Given the description of an element on the screen output the (x, y) to click on. 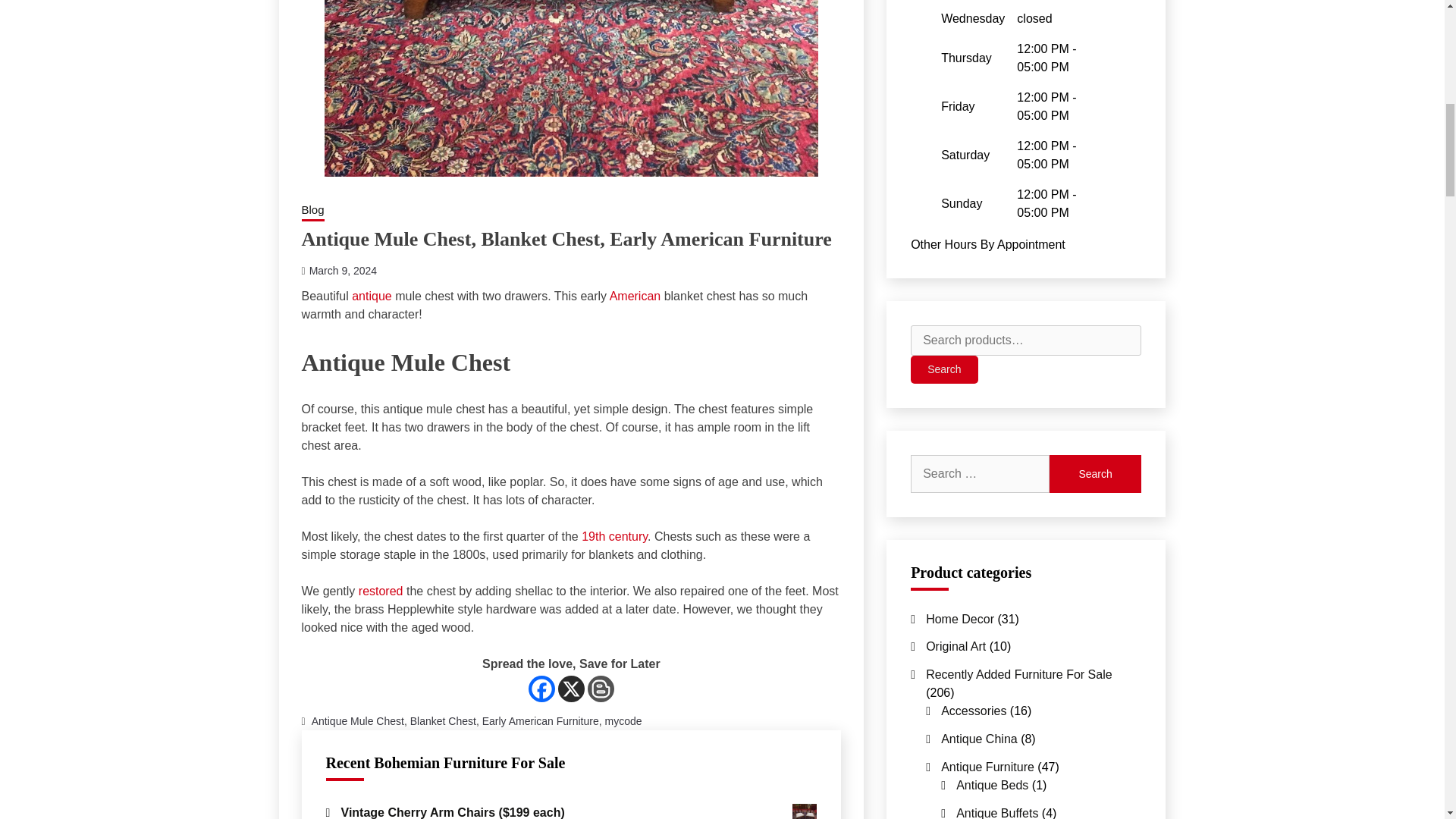
Search (1095, 474)
antique (371, 295)
19th century (613, 535)
X (571, 688)
Kwarm1-min (804, 811)
March 9, 2024 (342, 270)
American (635, 295)
Facebook (541, 688)
Blog (312, 211)
Blogger Post (601, 688)
